Given the description of an element on the screen output the (x, y) to click on. 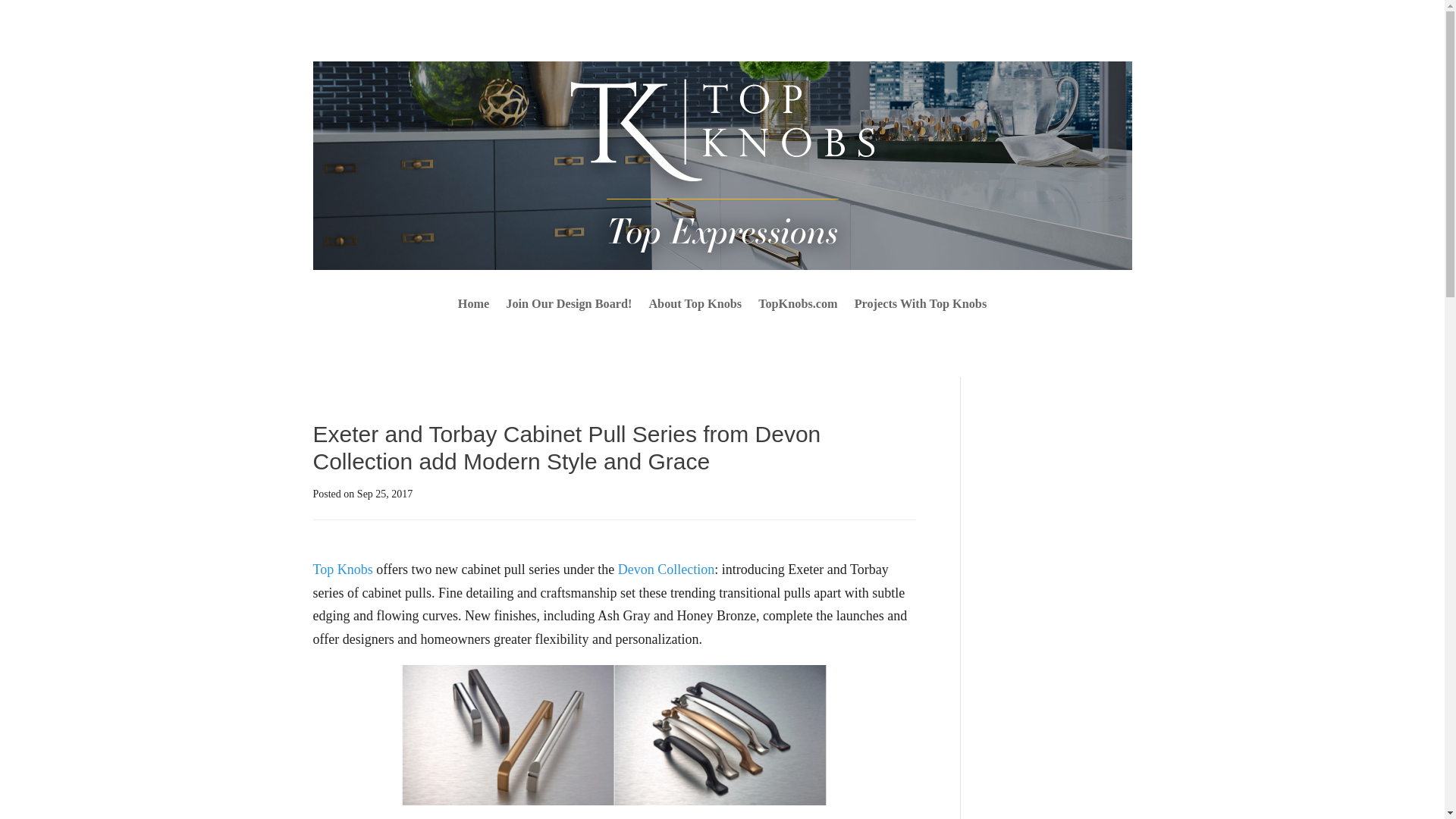
Join Our Design Board! (568, 306)
Home (473, 306)
Devon Collection (665, 569)
Top Knobs (342, 569)
About Top Knobs (694, 306)
TopKnobs.com (798, 306)
Projects With Top Knobs (920, 306)
